Given the description of an element on the screen output the (x, y) to click on. 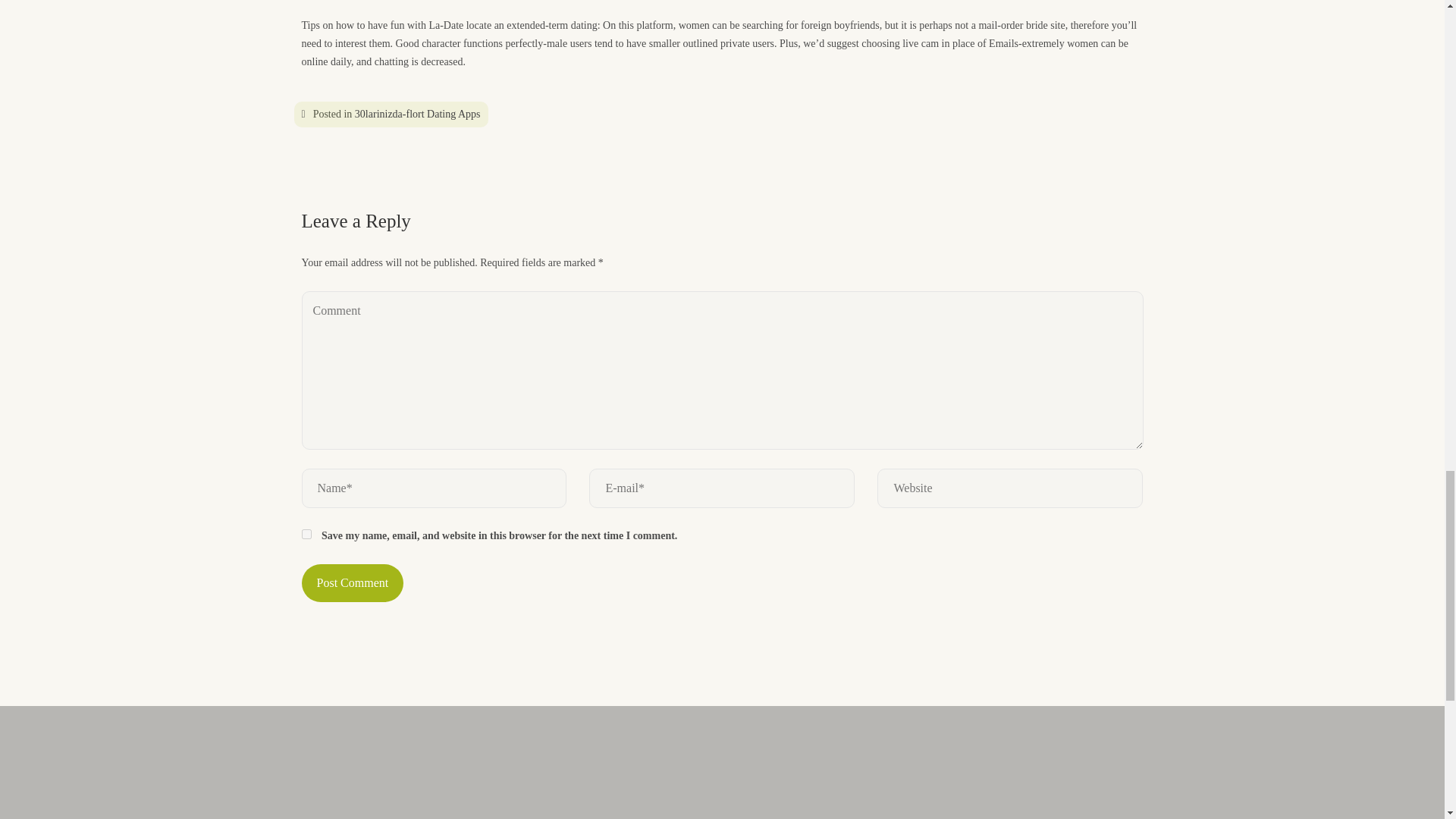
yes (306, 533)
30larinizda-flort Dating Apps (417, 112)
Post Comment (352, 582)
Post Comment (352, 582)
